Given the description of an element on the screen output the (x, y) to click on. 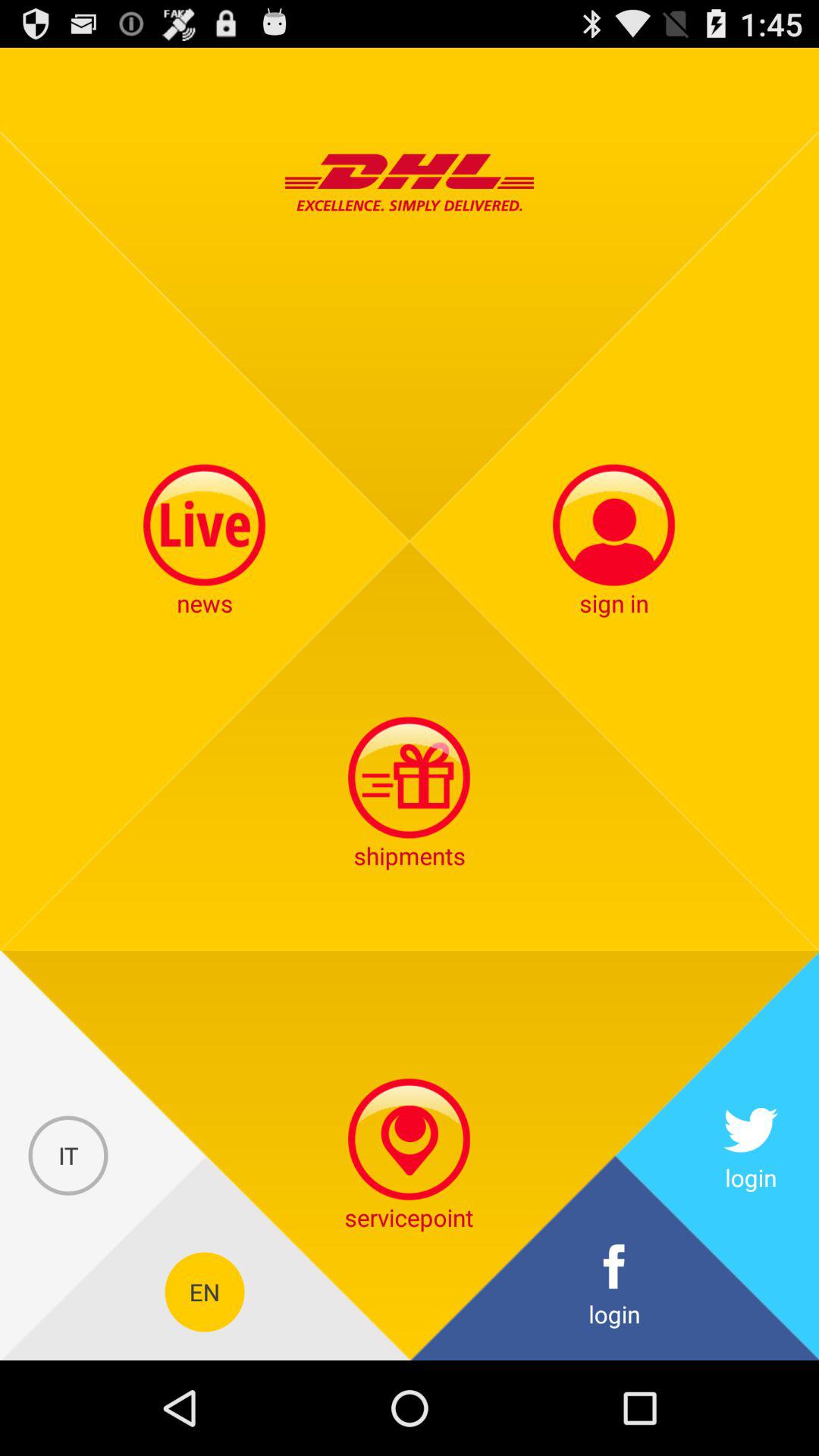
click on icon which is at bottom right corner (614, 1291)
click on it (68, 1155)
click on the button at top (409, 182)
click twitter icon (750, 1156)
